Given the description of an element on the screen output the (x, y) to click on. 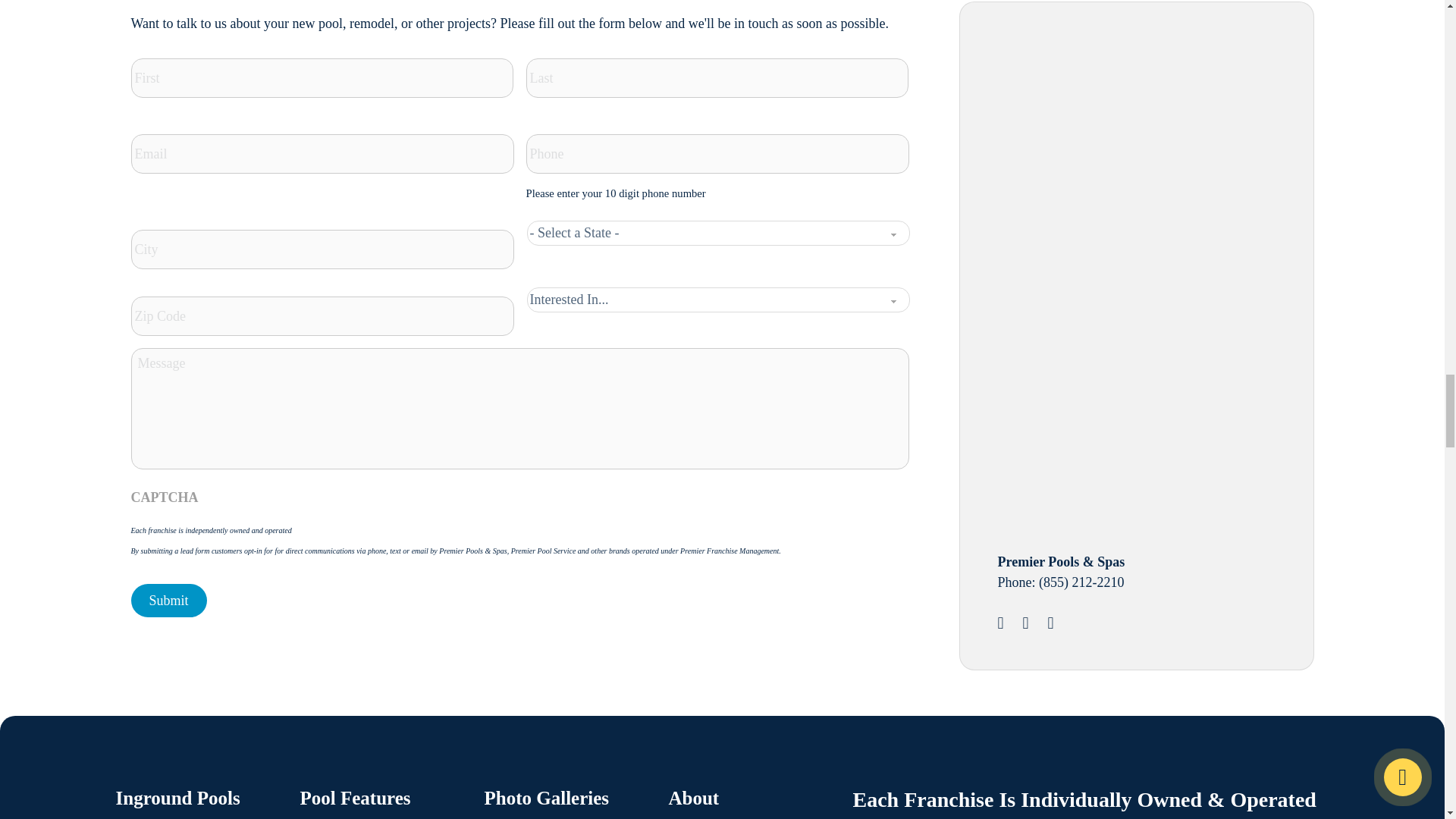
Pool Financing (1111, 395)
Submit (168, 600)
Design Your Pool (1111, 141)
